Given the description of an element on the screen output the (x, y) to click on. 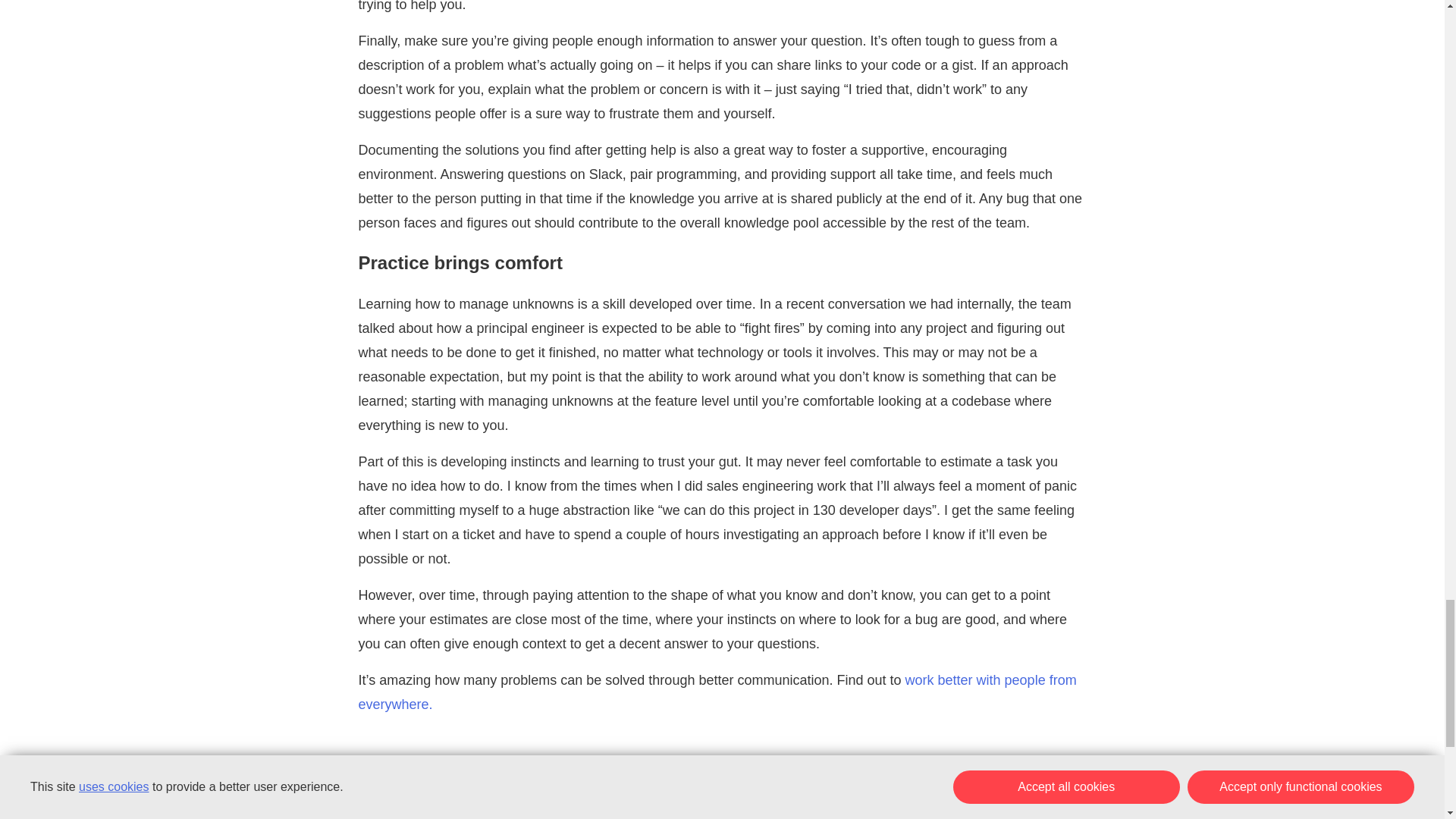
work better with people from everywhere. (716, 691)
